Given the description of an element on the screen output the (x, y) to click on. 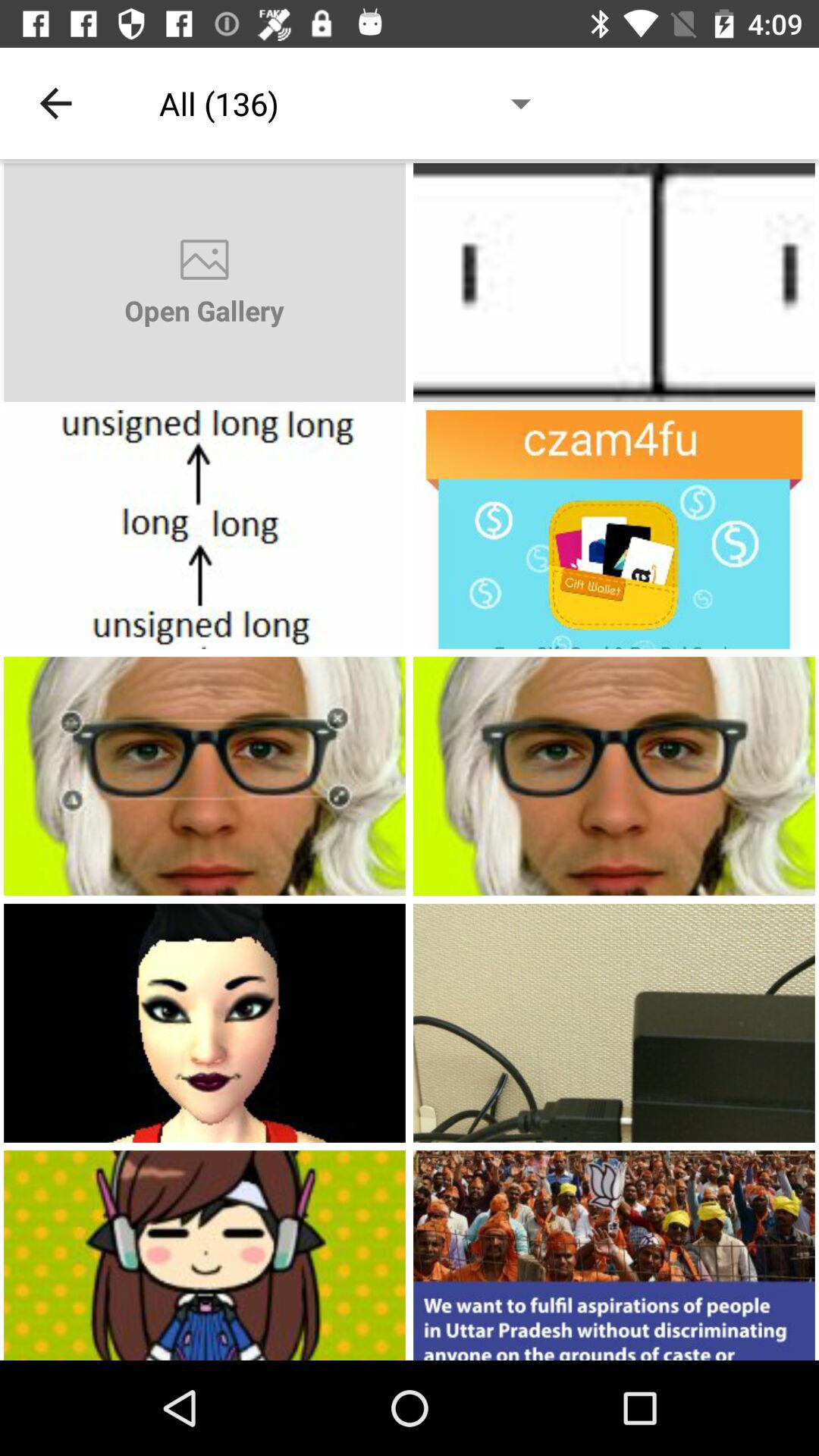
open a photo (204, 1022)
